Given the description of an element on the screen output the (x, y) to click on. 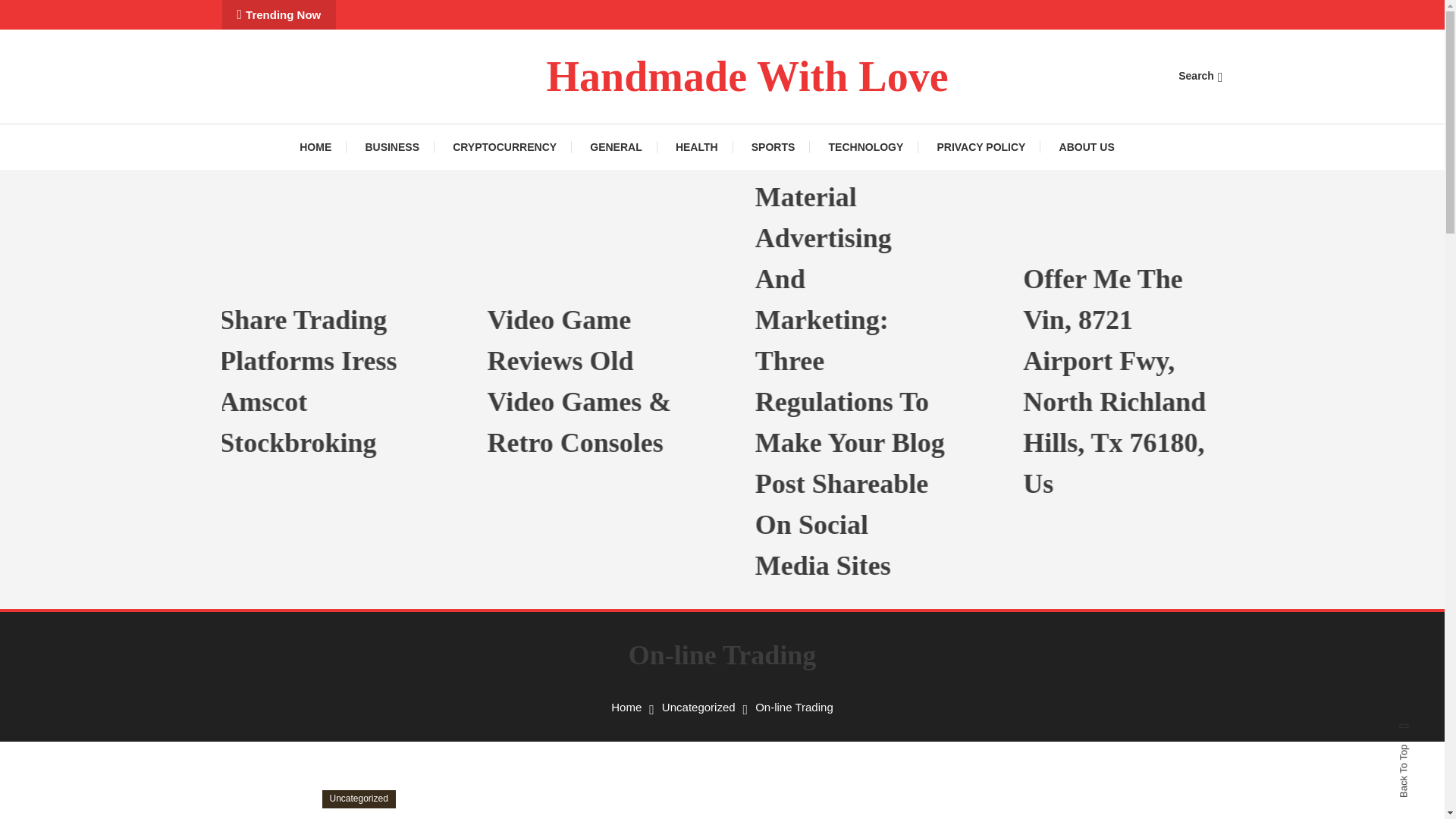
BUSINESS (391, 146)
Handmade With Love (746, 76)
HEALTH (697, 146)
TECHNOLOGY (865, 146)
GENERAL (615, 146)
SPORTS (773, 146)
Search (768, 434)
Search (1200, 75)
Uncategorized (357, 799)
Home (626, 707)
